Given the description of an element on the screen output the (x, y) to click on. 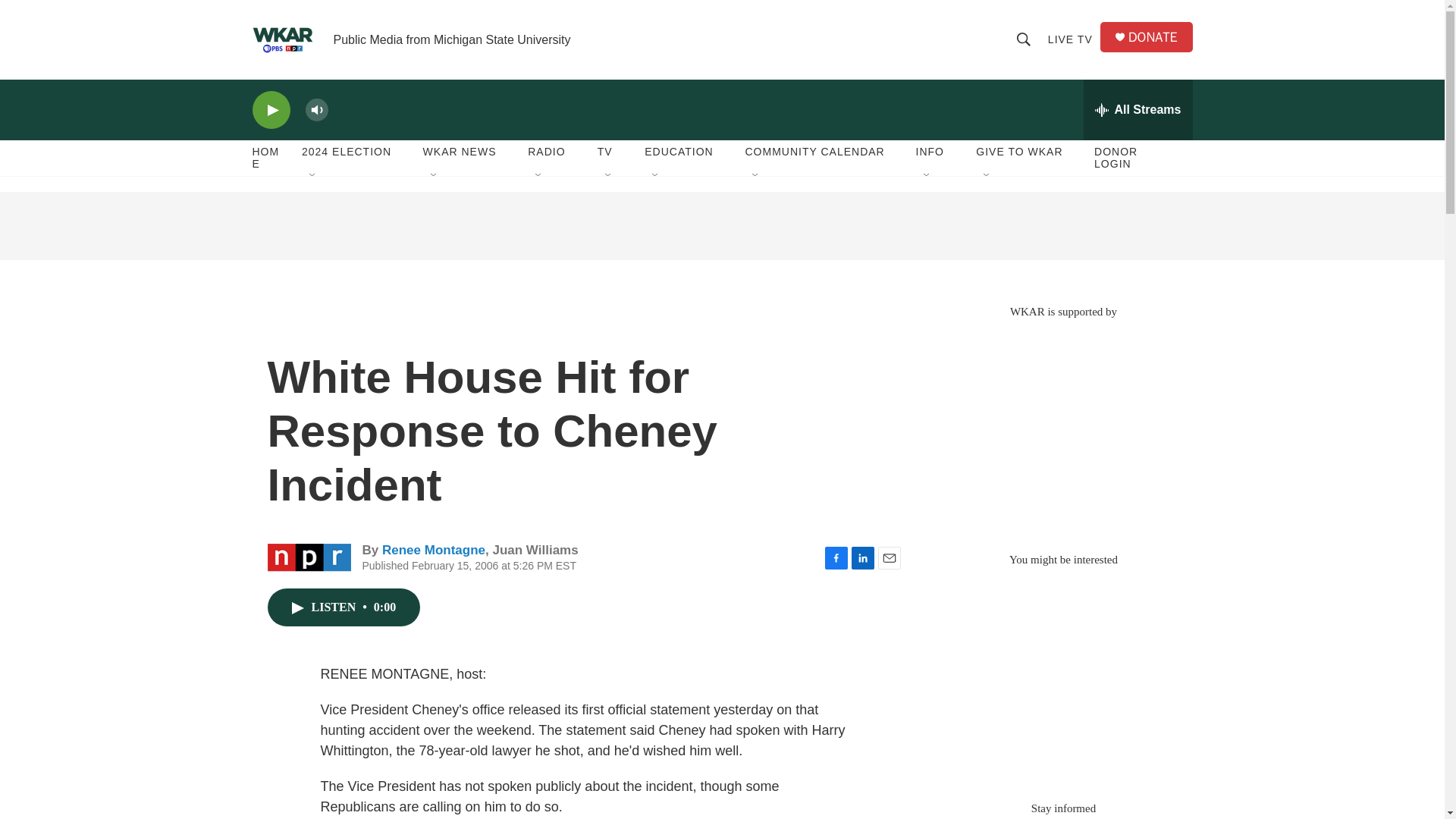
3rd party ad content (721, 225)
3rd party ad content (1062, 677)
3rd party ad content (1062, 428)
